Given the description of an element on the screen output the (x, y) to click on. 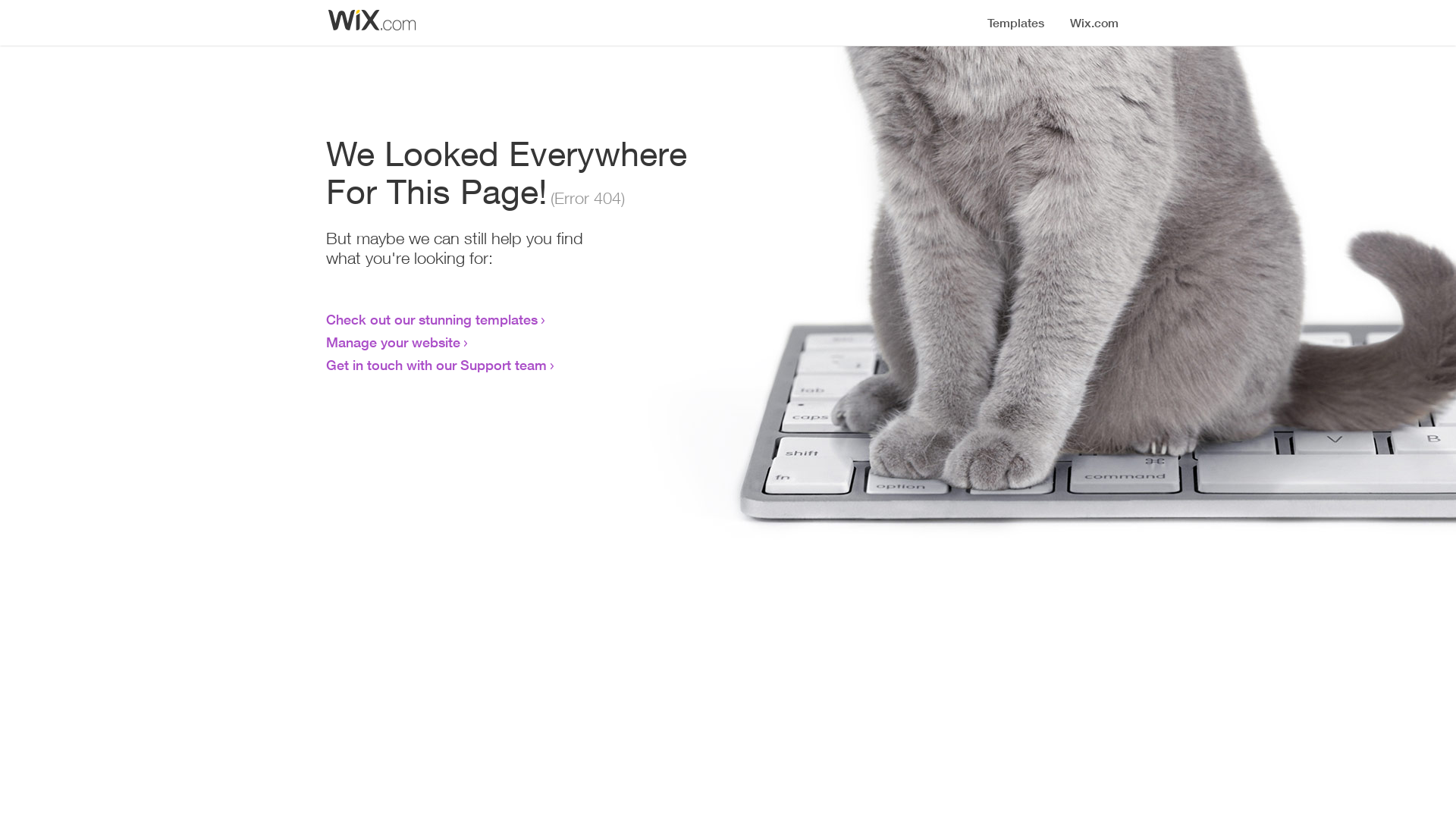
Manage your website Element type: text (393, 341)
Check out our stunning templates Element type: text (431, 318)
Get in touch with our Support team Element type: text (436, 364)
